Given the description of an element on the screen output the (x, y) to click on. 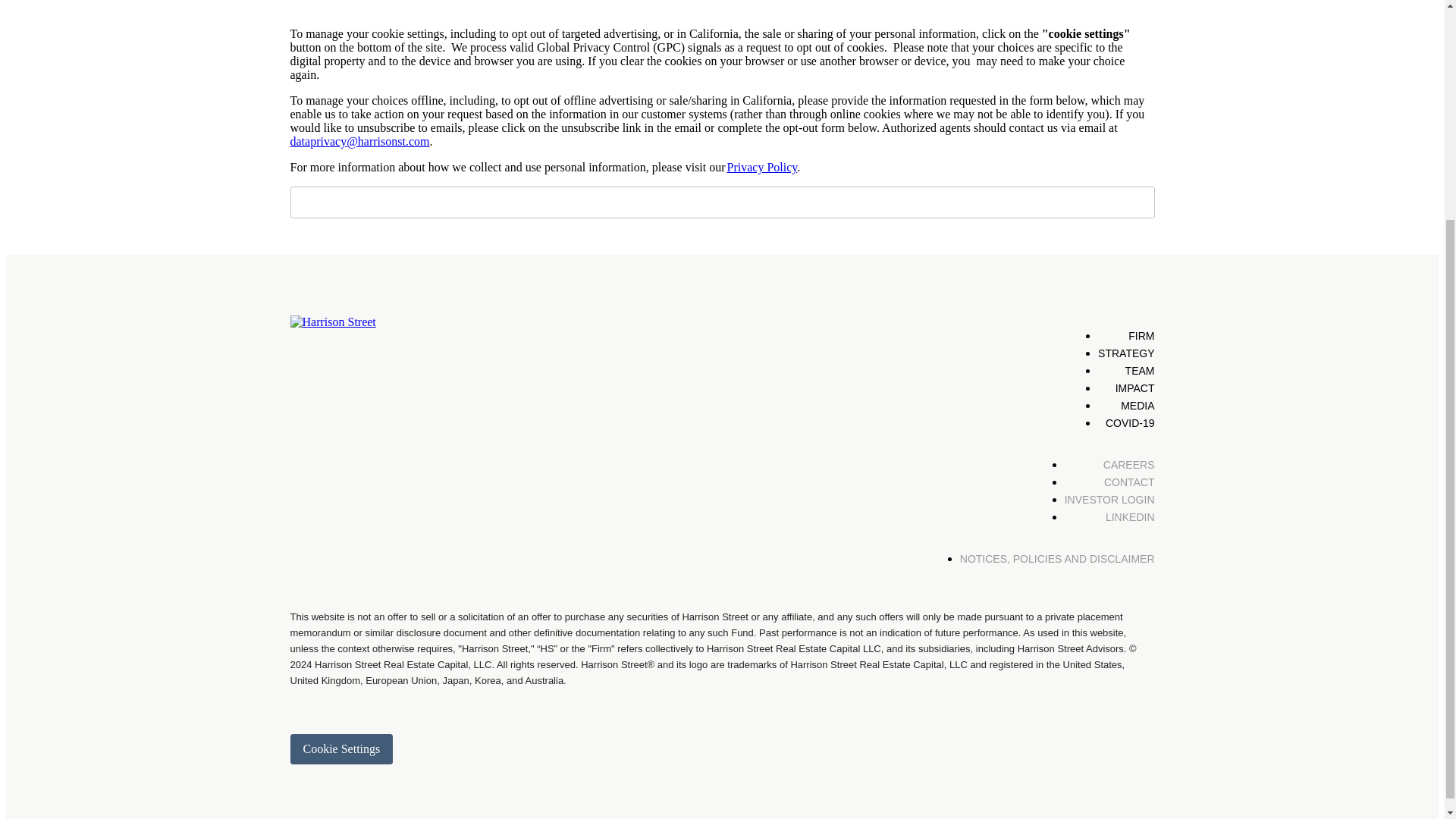
MEDIA (1137, 405)
Cookie Settings (341, 748)
INVESTOR LOGIN (1109, 499)
Privacy Policy (761, 166)
NOTICES, POLICIES AND DISCLAIMER (1056, 558)
CONTACT (1128, 481)
COVID-19 (1129, 422)
IMPACT (1134, 387)
Harrison Street (332, 322)
LINKEDIN (1129, 517)
FIRM (1141, 336)
TEAM (1139, 370)
CAREERS (1128, 464)
STRATEGY (1125, 353)
